Given the description of an element on the screen output the (x, y) to click on. 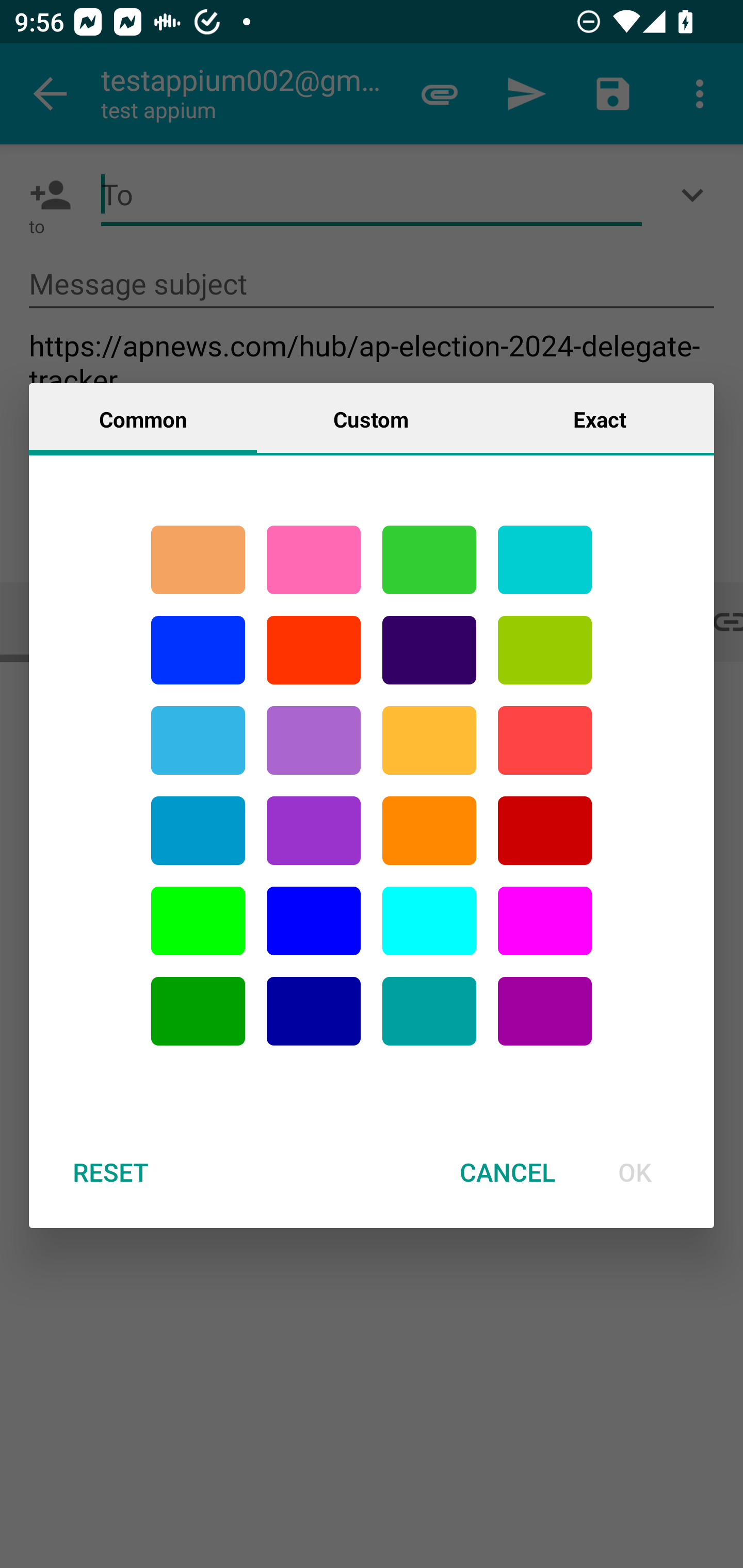
Common (142, 418)
Custom (371, 418)
Exact (599, 418)
Peach (197, 559)
Pink (313, 559)
Green (429, 559)
Cyan (544, 559)
Blue (197, 649)
Red (313, 649)
Dark purple (429, 649)
Light green (544, 649)
Cyan (197, 739)
Purple (313, 739)
Light orange (429, 739)
Light red (544, 739)
Dark cyan (197, 830)
Purple (313, 830)
Orange (429, 830)
Dark red (544, 830)
Light green (197, 920)
Blue (313, 920)
Light cyan (429, 920)
Light purple (544, 920)
Dark green (197, 1010)
Dark blue (313, 1010)
Cyan (429, 1010)
Purple (544, 1010)
RESET (110, 1171)
CANCEL (507, 1171)
OK (634, 1171)
